Given the description of an element on the screen output the (x, y) to click on. 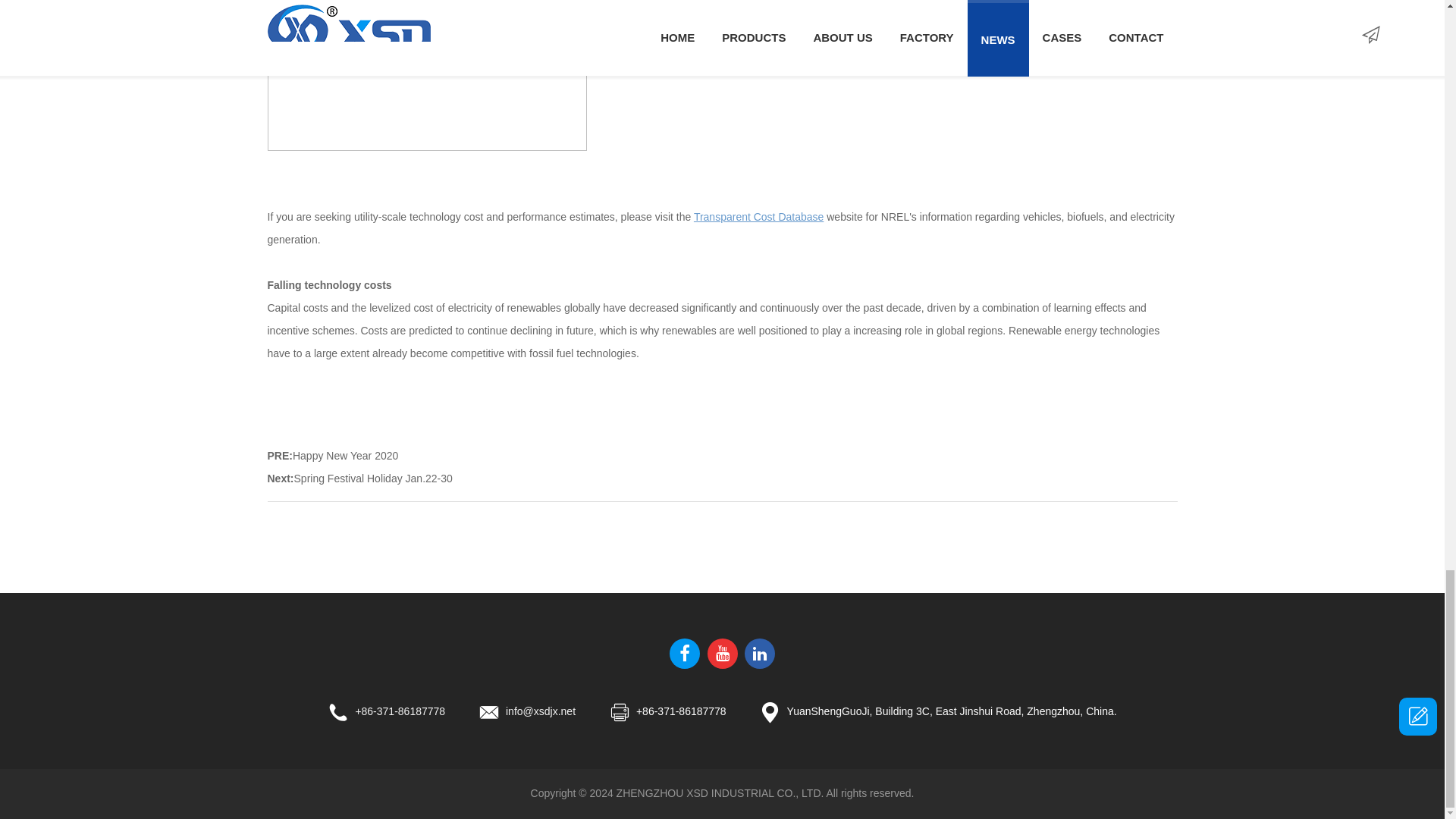
Happy New Year 2020 (344, 455)
Transparent Cost Database (759, 216)
Spring Festival Holiday Jan.22-30 (373, 478)
